Given the description of an element on the screen output the (x, y) to click on. 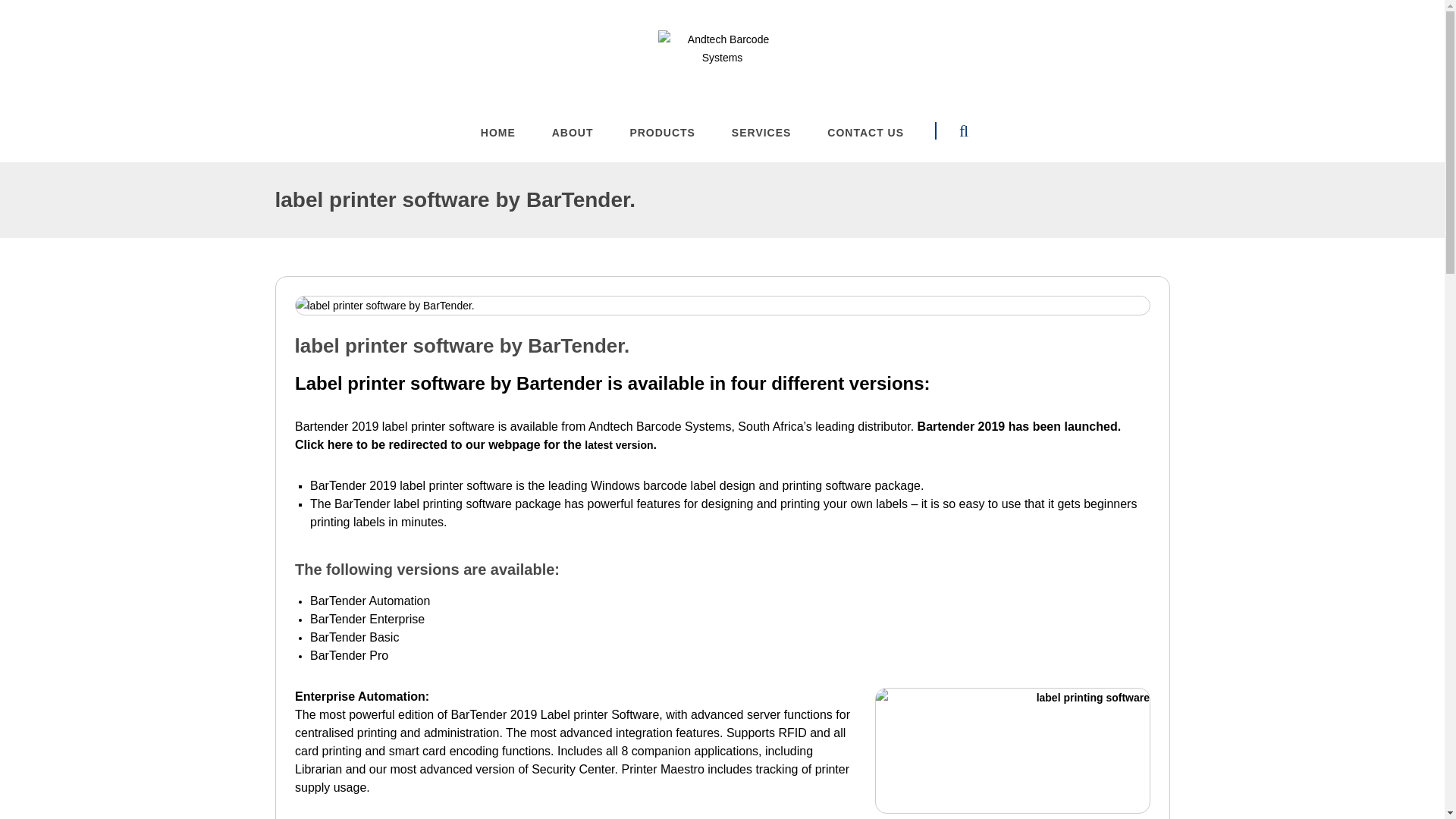
SERVICES (762, 144)
label printer software by BarTender. (722, 348)
PRODUCTS (661, 144)
ABOUT (572, 144)
CONTACT US (865, 144)
HOME (497, 144)
